Given the description of an element on the screen output the (x, y) to click on. 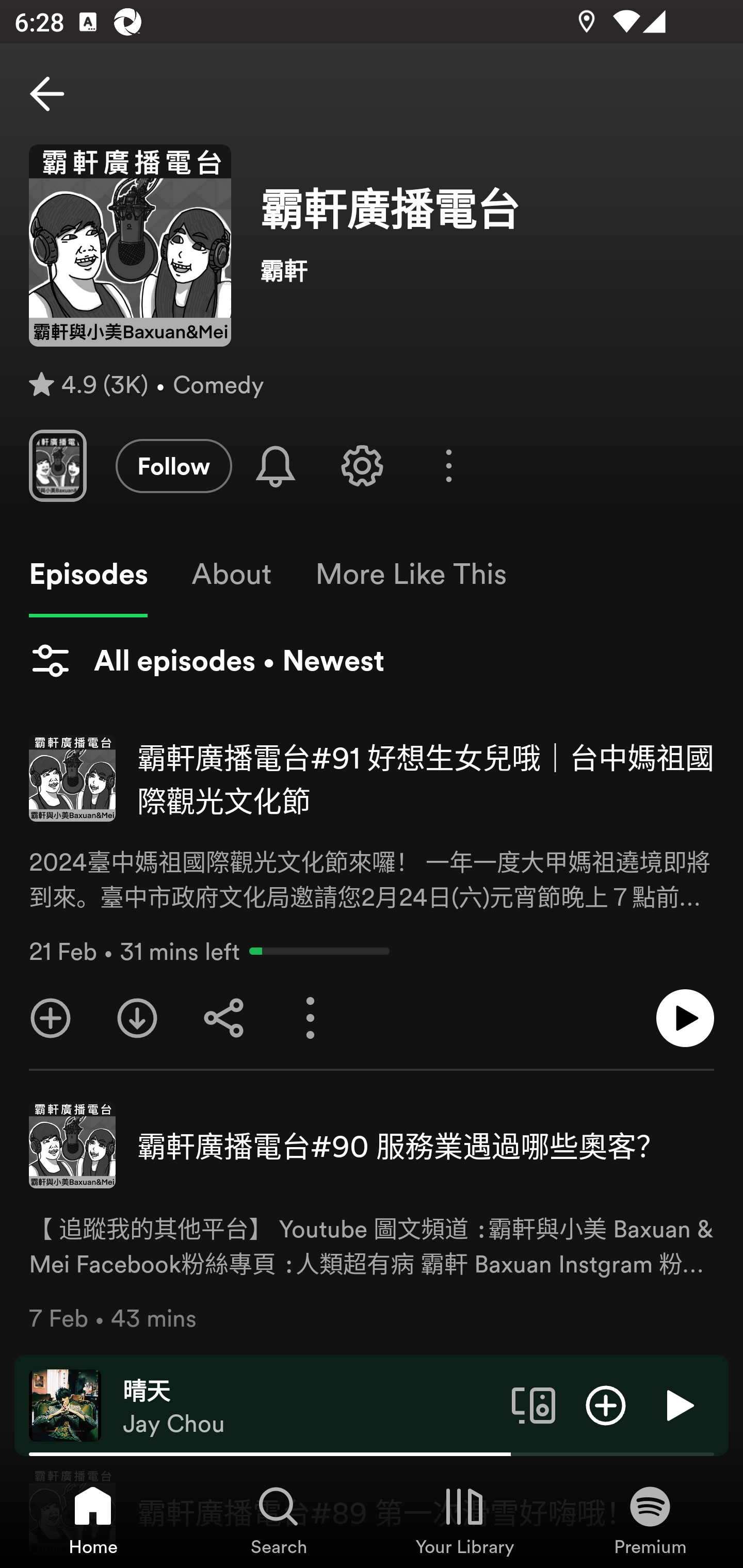
Back (46, 93)
霸軒 (487, 269)
Enable notifications for new episodes of 霸軒廣播電台. (274, 465)
Settings for this Show. (361, 465)
More options for show 霸軒廣播電台 (448, 465)
Follow Follow this Show (173, 465)
About (231, 573)
More Like This (410, 573)
All episodes • Newest (206, 660)
Add 霸軒廣播電台#91 好想生女兒哦｜台中媽祖國際觀光文化節 to Your Episodes (50, 1018)
Download episode: 霸軒廣播電台#91 好想生女兒哦｜台中媽祖國際觀光文化節 (136, 1018)
Share (223, 1018)
Play episode: 霸軒廣播電台#91 好想生女兒哦｜台中媽祖國際觀光文化節 (684, 1018)
晴天 Jay Chou (309, 1405)
The cover art of the currently playing track (64, 1404)
Connect to a device. Opens the devices menu (533, 1404)
Add item (605, 1404)
Play (677, 1404)
Home, Tab 1 of 4 Home Home (92, 1519)
Search, Tab 2 of 4 Search Search (278, 1519)
Your Library, Tab 3 of 4 Your Library Your Library (464, 1519)
Premium, Tab 4 of 4 Premium Premium (650, 1519)
